Given the description of an element on the screen output the (x, y) to click on. 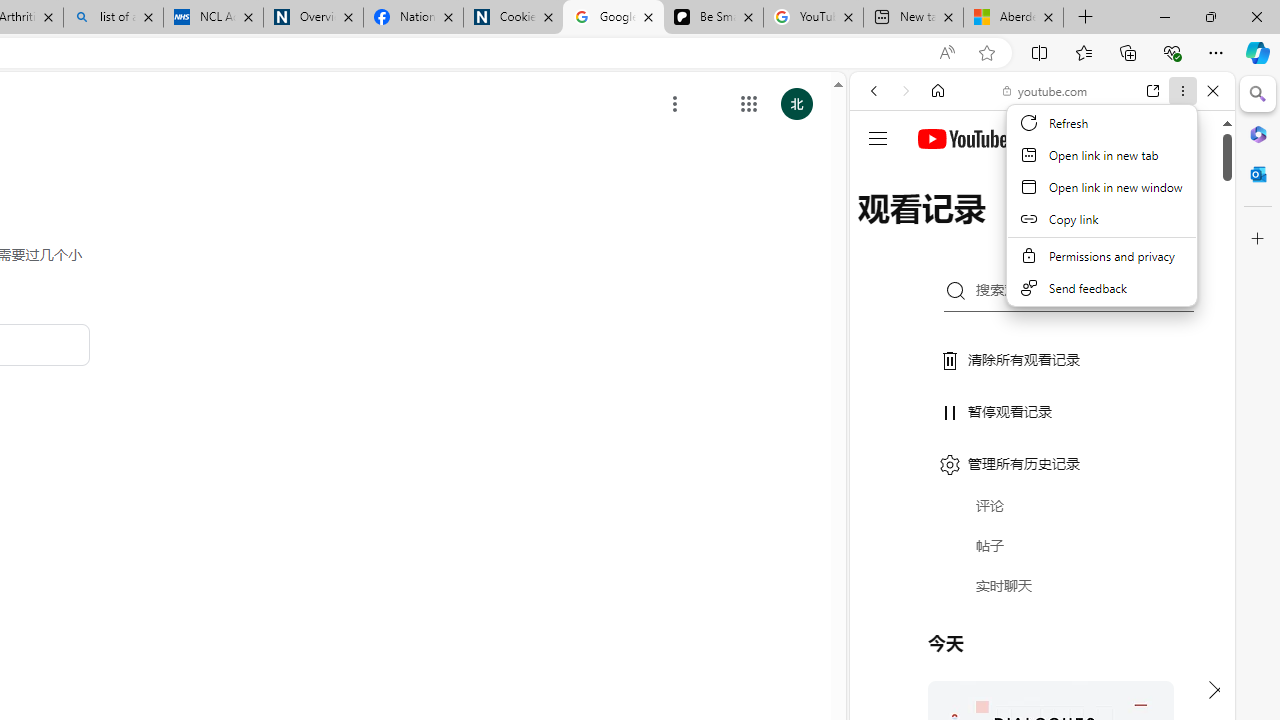
Class: gb_E (749, 103)
Show More Music (1164, 546)
Class: b_serphb (1190, 229)
Google (1042, 494)
VIDEOS (1006, 228)
Global web icon (888, 288)
Google (1042, 494)
Aberdeen, Hong Kong SAR hourly forecast | Microsoft Weather (1013, 17)
